Given the description of an element on the screen output the (x, y) to click on. 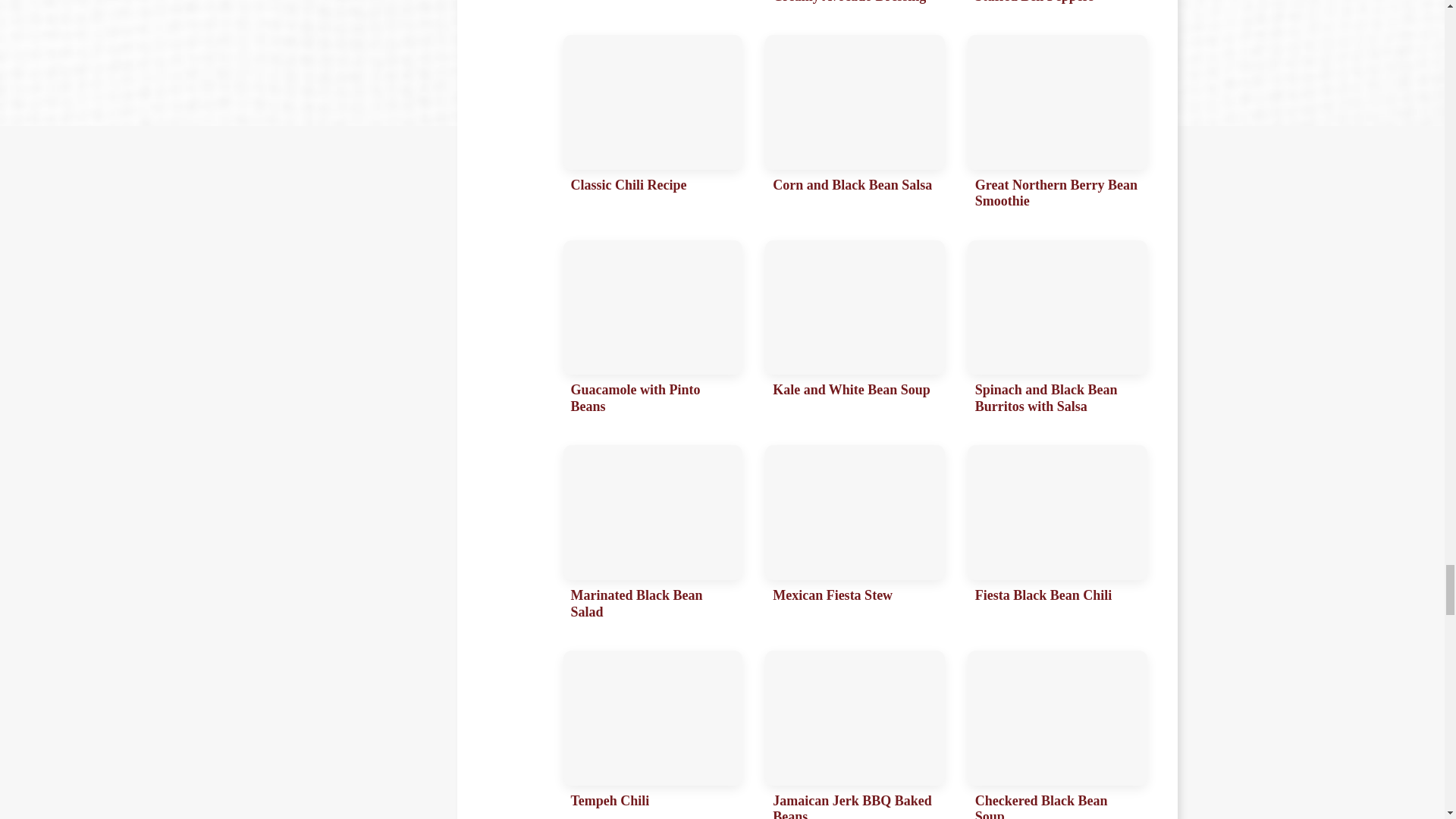
Kale and White Bean Soup (854, 331)
Jamaican Jerk BBQ Baked Beans (854, 734)
Tex-Mex Couscous Salad (652, 6)
Spinach and Black Bean Burritos with Salsa (1057, 331)
Mexican Fiesta Stew (854, 536)
Corn and Black Bean Salsa (854, 126)
Guacamole with Pinto Beans (652, 331)
Black Bean and Quinoa Stuffed Bell Peppers (1057, 6)
Checkered Black Bean Soup (1057, 734)
Great Northern Berry Bean Smoothie (1057, 126)
